Given the description of an element on the screen output the (x, y) to click on. 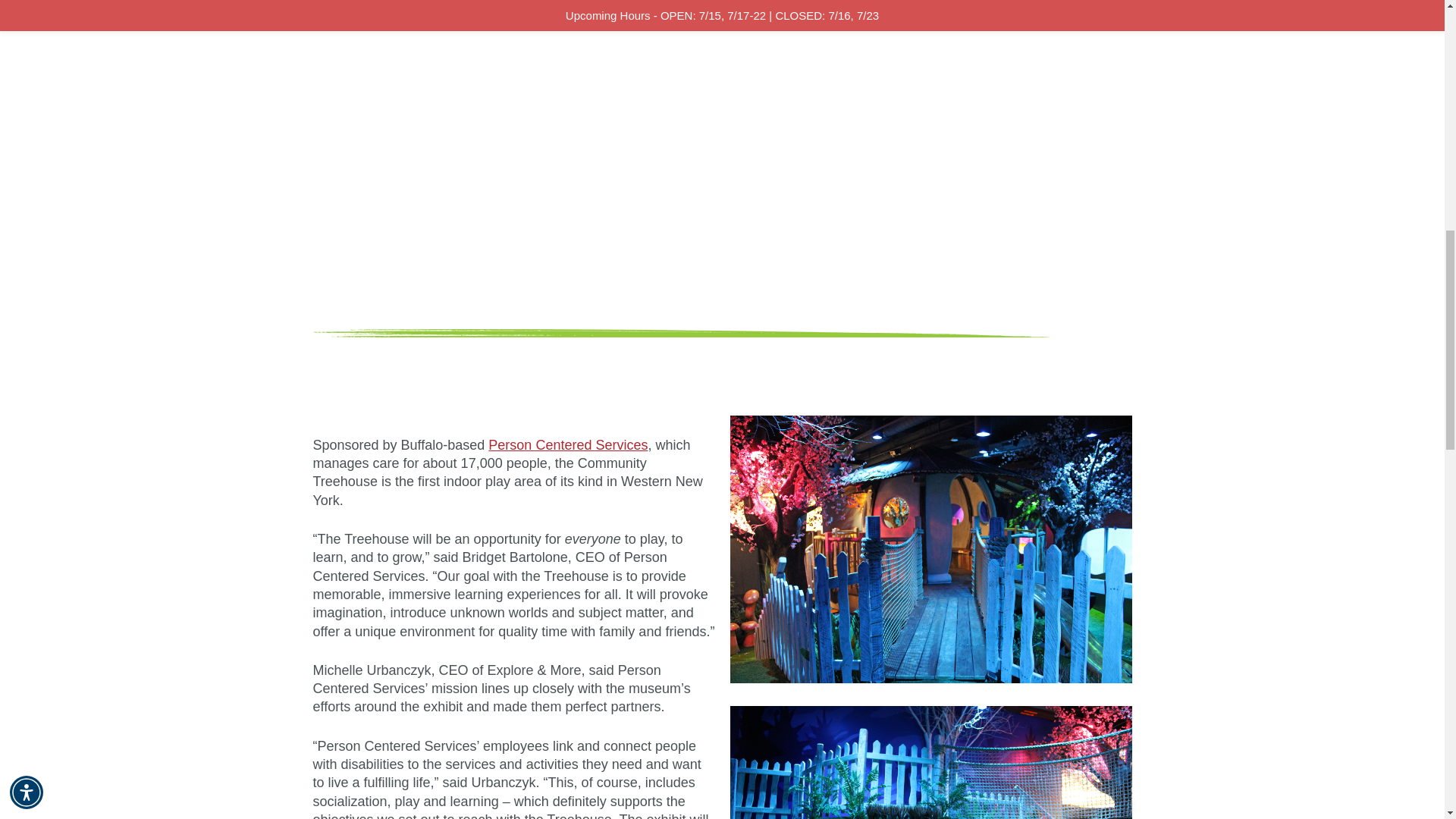
Treehouse-Hobithole-0566-6x4 (930, 762)
Treehouse-Bridge-0571-6x4 (930, 549)
